Given the description of an element on the screen output the (x, y) to click on. 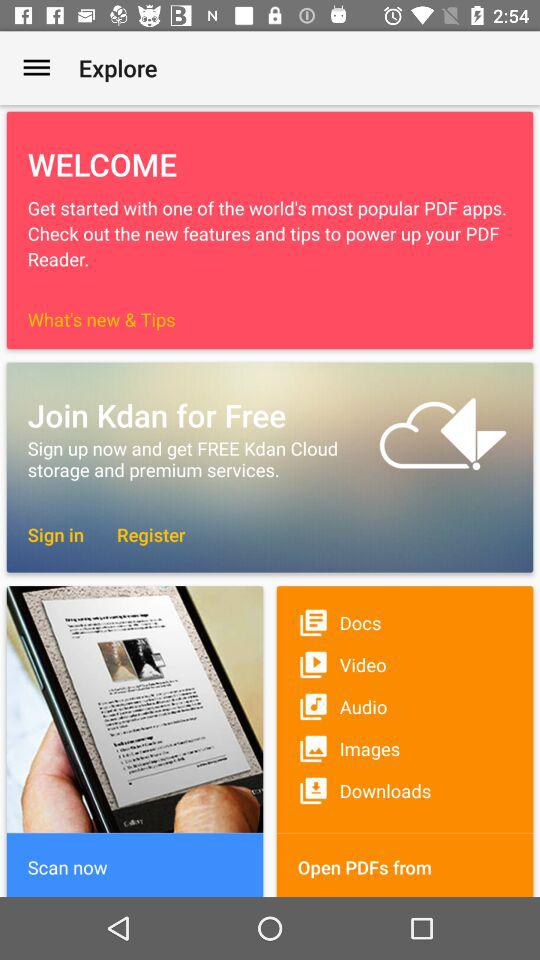
launch the register (141, 534)
